Given the description of an element on the screen output the (x, y) to click on. 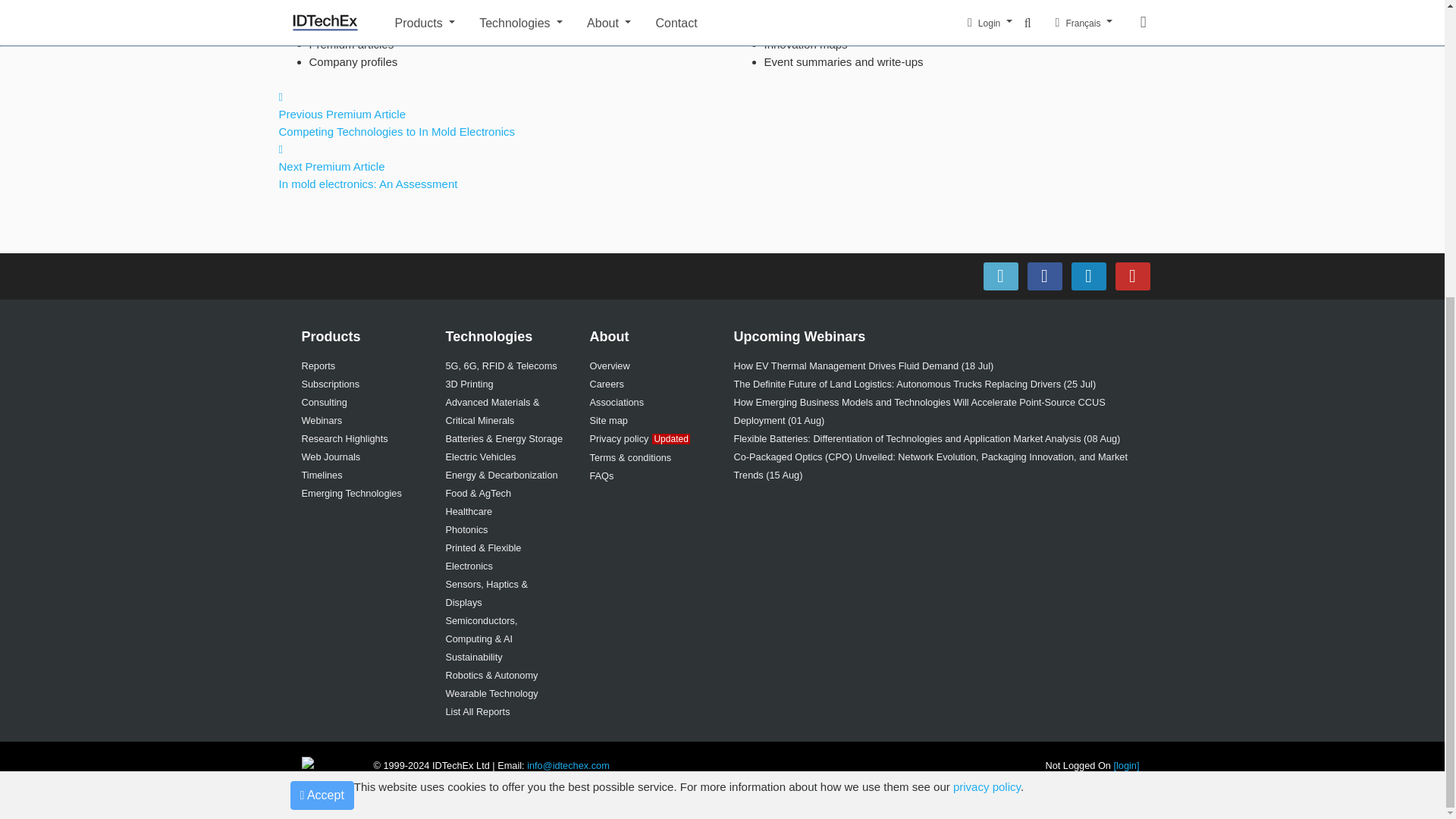
Healthcare (469, 511)
Reports (318, 365)
Subscriptions (330, 383)
Timelines (321, 474)
Photonics (466, 529)
3D Printing (469, 383)
Web Journals (331, 456)
Consulting (324, 401)
Webinars (321, 419)
Electric Vehicles (480, 456)
Accept (321, 337)
Emerging Technologies (351, 492)
Research Highlights (344, 438)
privacy policy (986, 328)
